Given the description of an element on the screen output the (x, y) to click on. 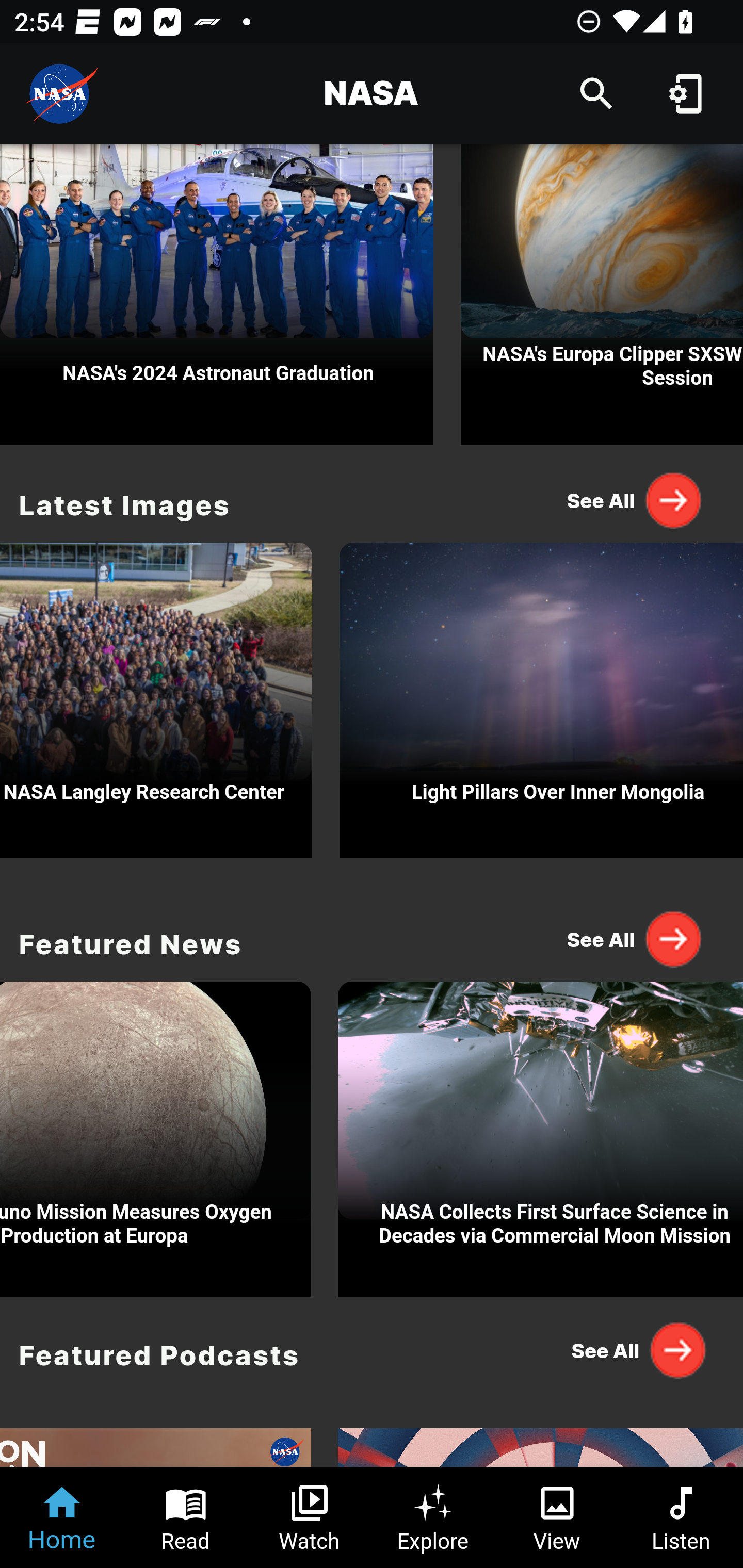
NASA's 2024 Astronaut Graduation (216, 294)
NASA's Europa Clipper SXSW 2024 Opening Session (601, 294)
See All (634, 500)
Women of NASA Langley Research Center (156, 695)
Light Pillars Over Inner Mongolia (541, 695)
See All (634, 938)
See All (634, 1349)
Home
Tab 1 of 6 (62, 1517)
Read
Tab 2 of 6 (185, 1517)
Watch
Tab 3 of 6 (309, 1517)
Explore
Tab 4 of 6 (433, 1517)
View
Tab 5 of 6 (556, 1517)
Listen
Tab 6 of 6 (680, 1517)
